Given the description of an element on the screen output the (x, y) to click on. 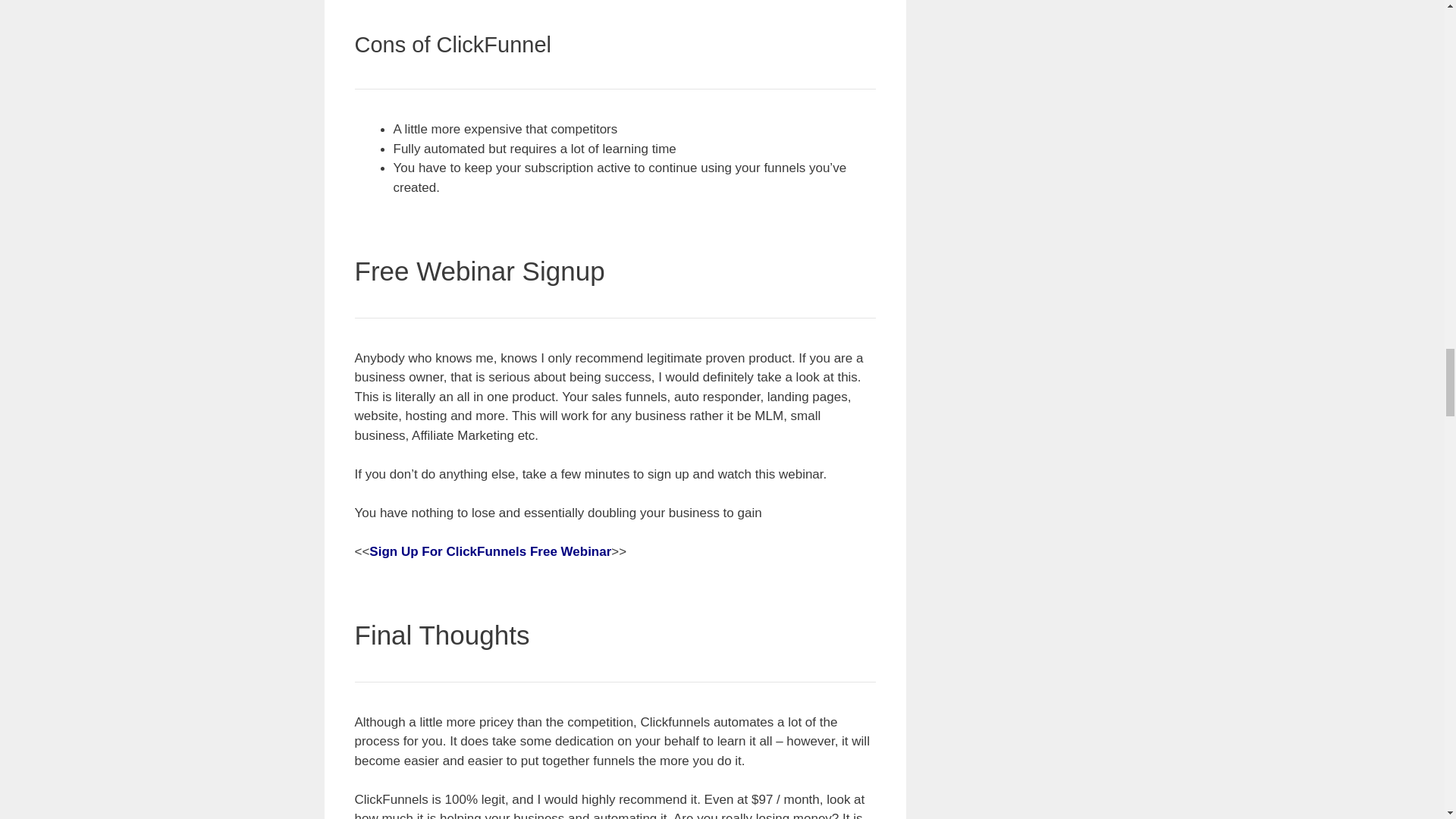
Sign Up For ClickFunnels Free Webinar (490, 551)
